Given the description of an element on the screen output the (x, y) to click on. 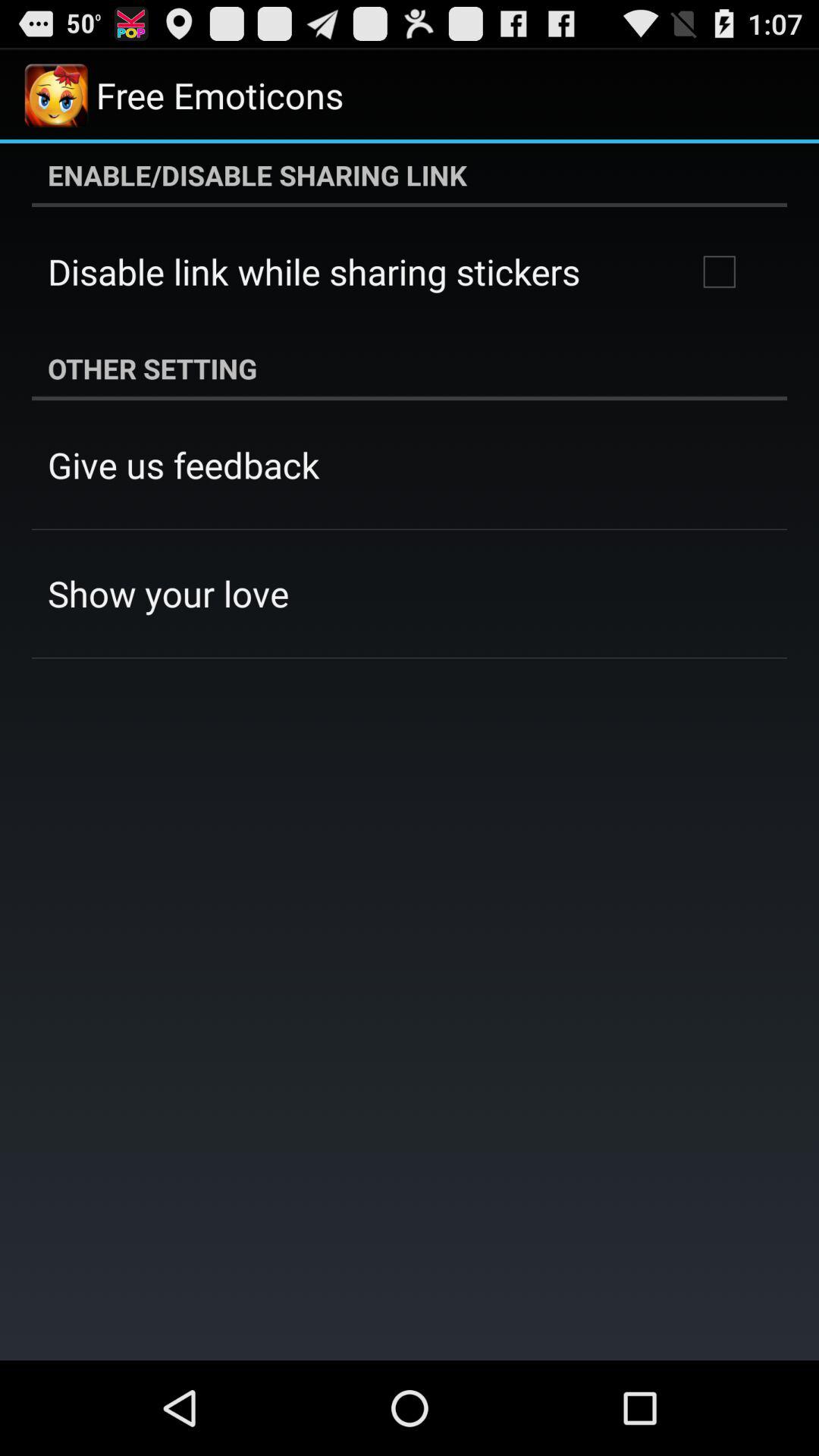
select the enable disable sharing app (409, 175)
